Given the description of an element on the screen output the (x, y) to click on. 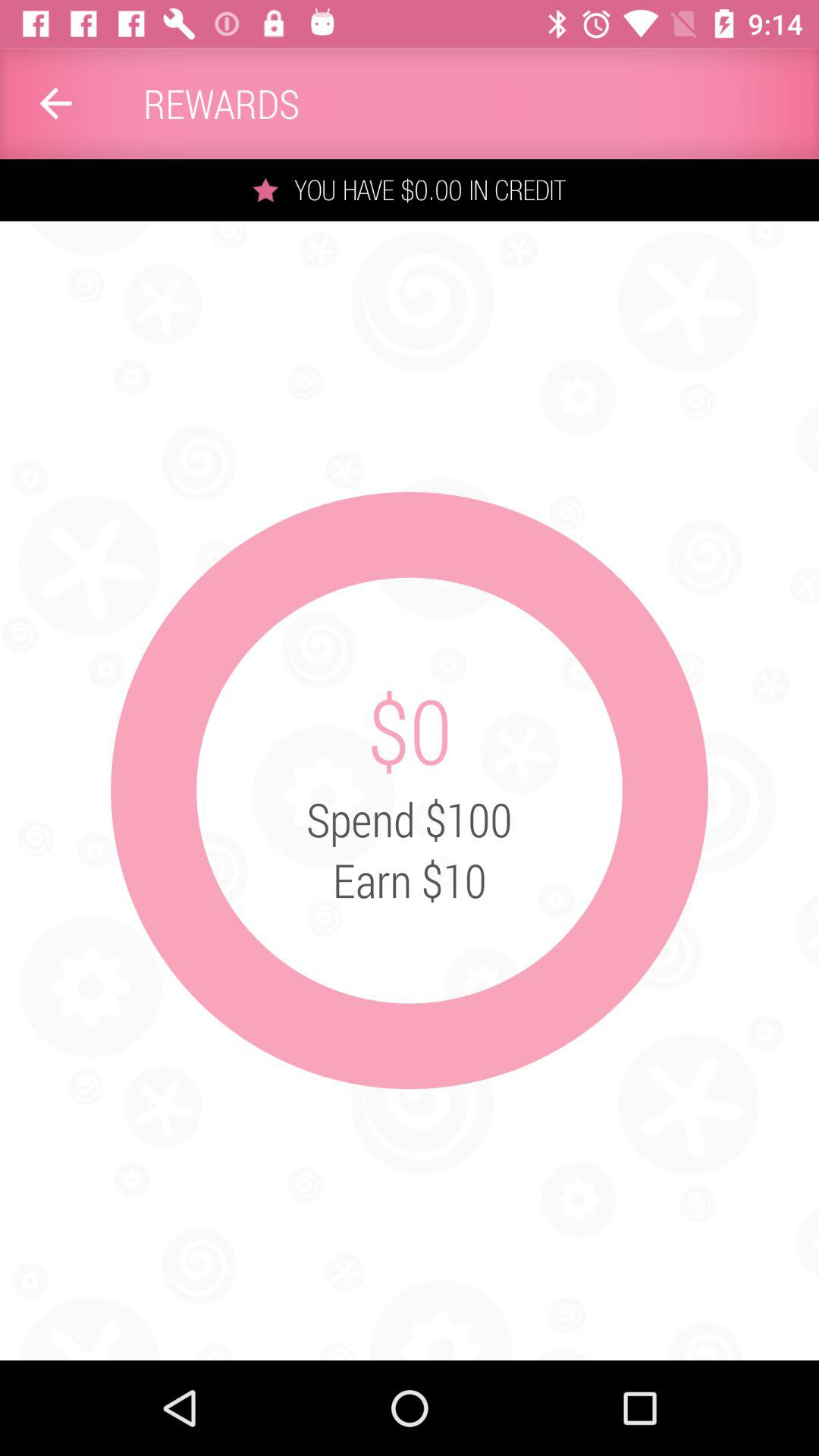
select the app to the left of the rewards item (55, 103)
